Given the description of an element on the screen output the (x, y) to click on. 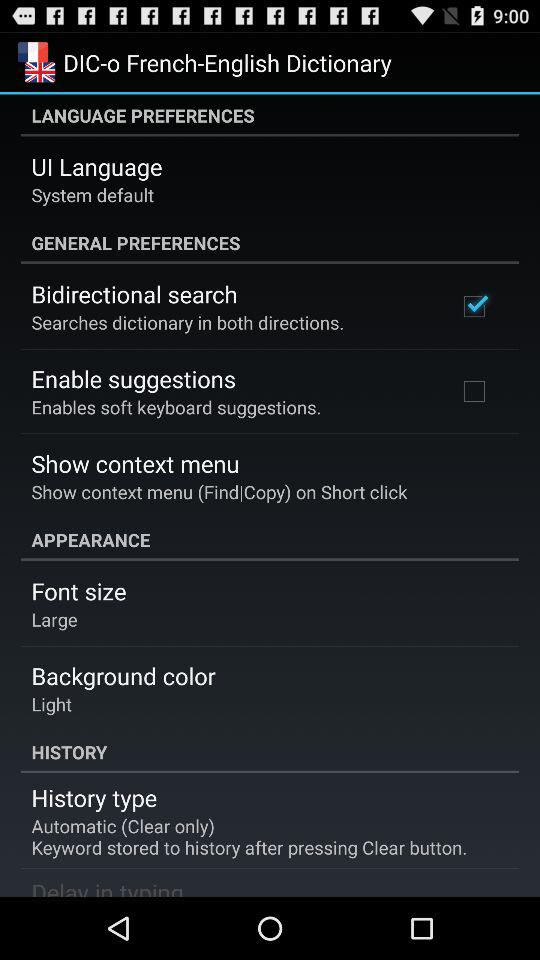
choose the enables soft keyboard item (176, 406)
